Given the description of an element on the screen output the (x, y) to click on. 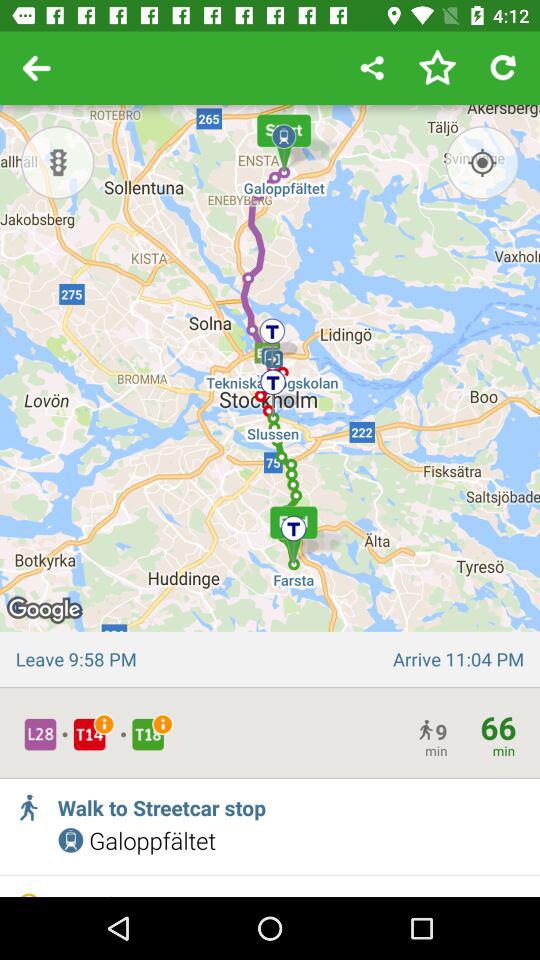
view traffic data (57, 162)
